Given the description of an element on the screen output the (x, y) to click on. 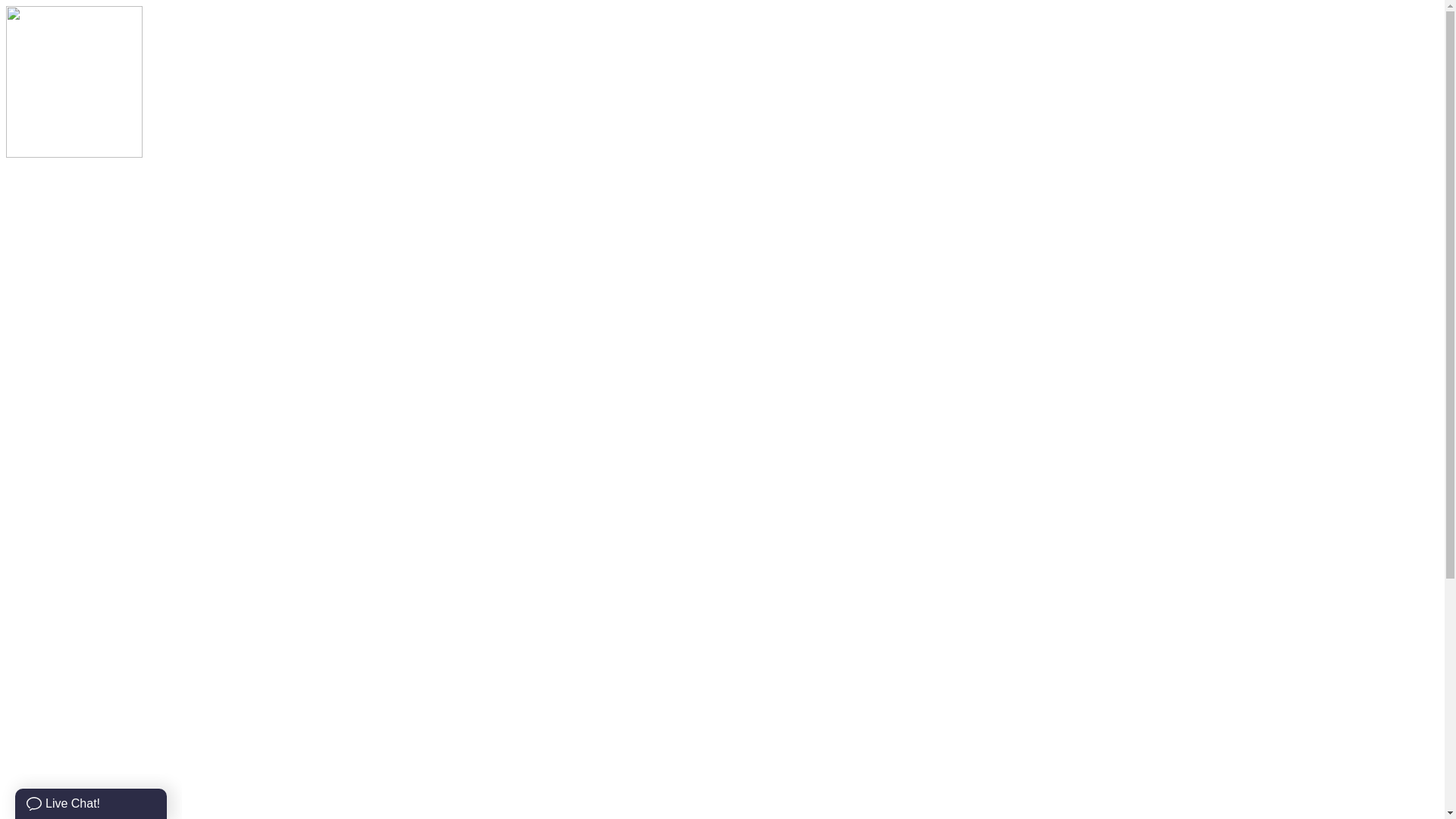
logo_back Element type: hover (74, 81)
Contact Element type: text (24, 356)
